Given the description of an element on the screen output the (x, y) to click on. 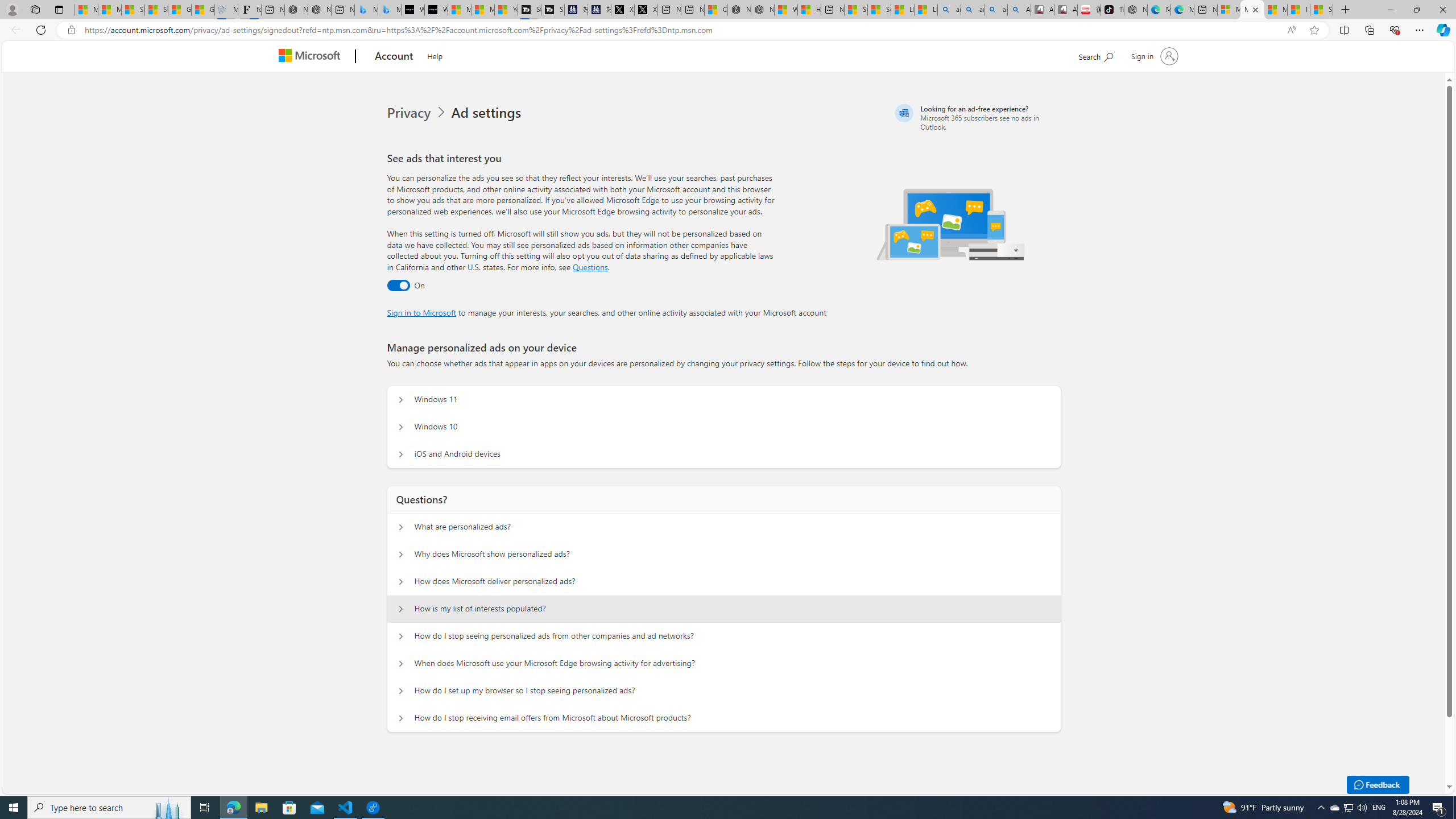
Privacy (410, 112)
Privacy (418, 112)
Streaming Coverage | T3 (529, 9)
Microsoft account | Privacy (1252, 9)
